Given the description of an element on the screen output the (x, y) to click on. 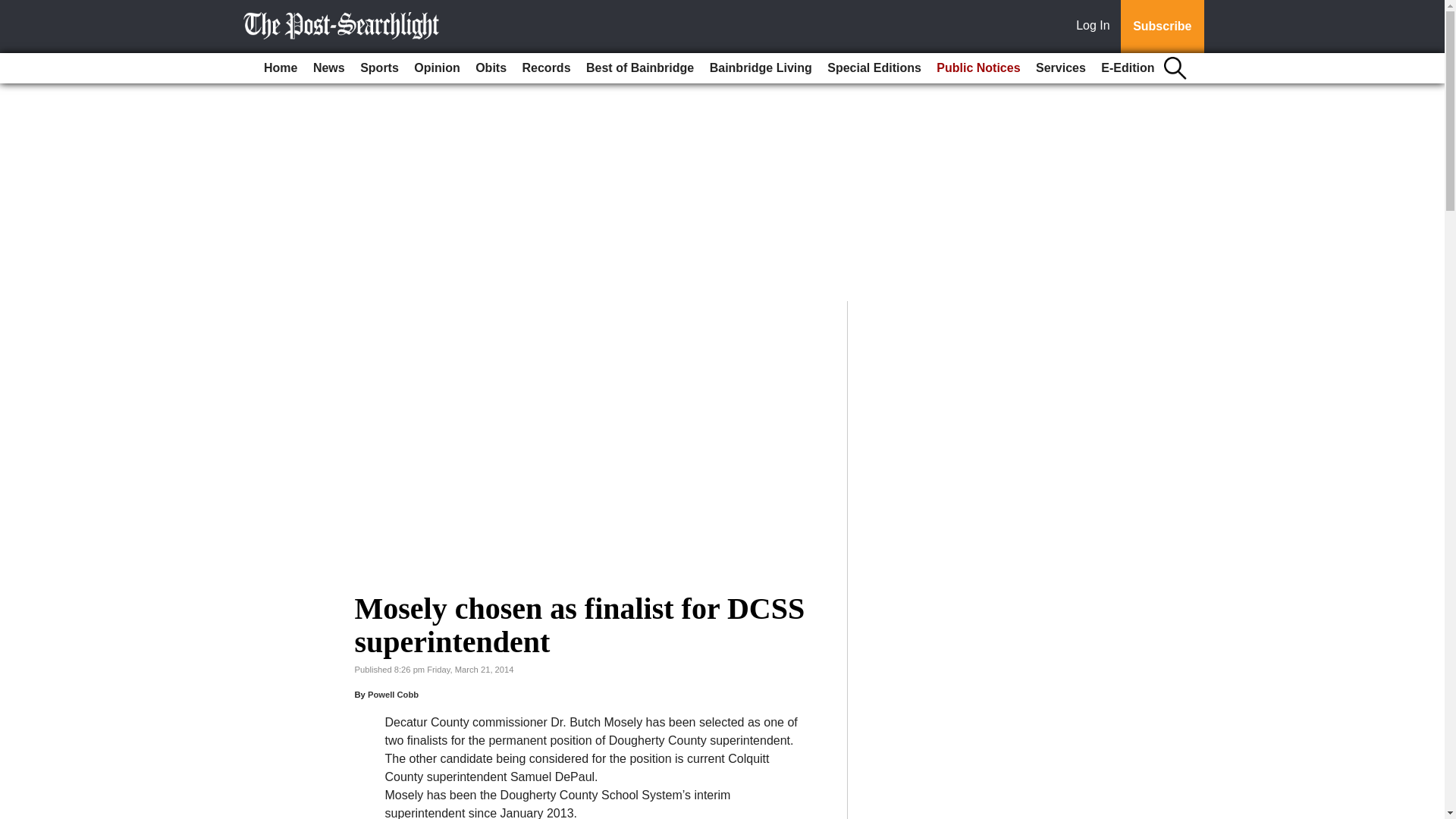
Obits (490, 68)
Log In (1095, 26)
News (328, 68)
Bainbridge Living (760, 68)
E-Edition (1127, 68)
Powell Cobb (393, 694)
Special Editions (874, 68)
Subscribe (1162, 26)
Home (279, 68)
Best of Bainbridge (639, 68)
Sports (378, 68)
Records (546, 68)
Services (1060, 68)
Go (13, 9)
Public Notices (978, 68)
